Given the description of an element on the screen output the (x, y) to click on. 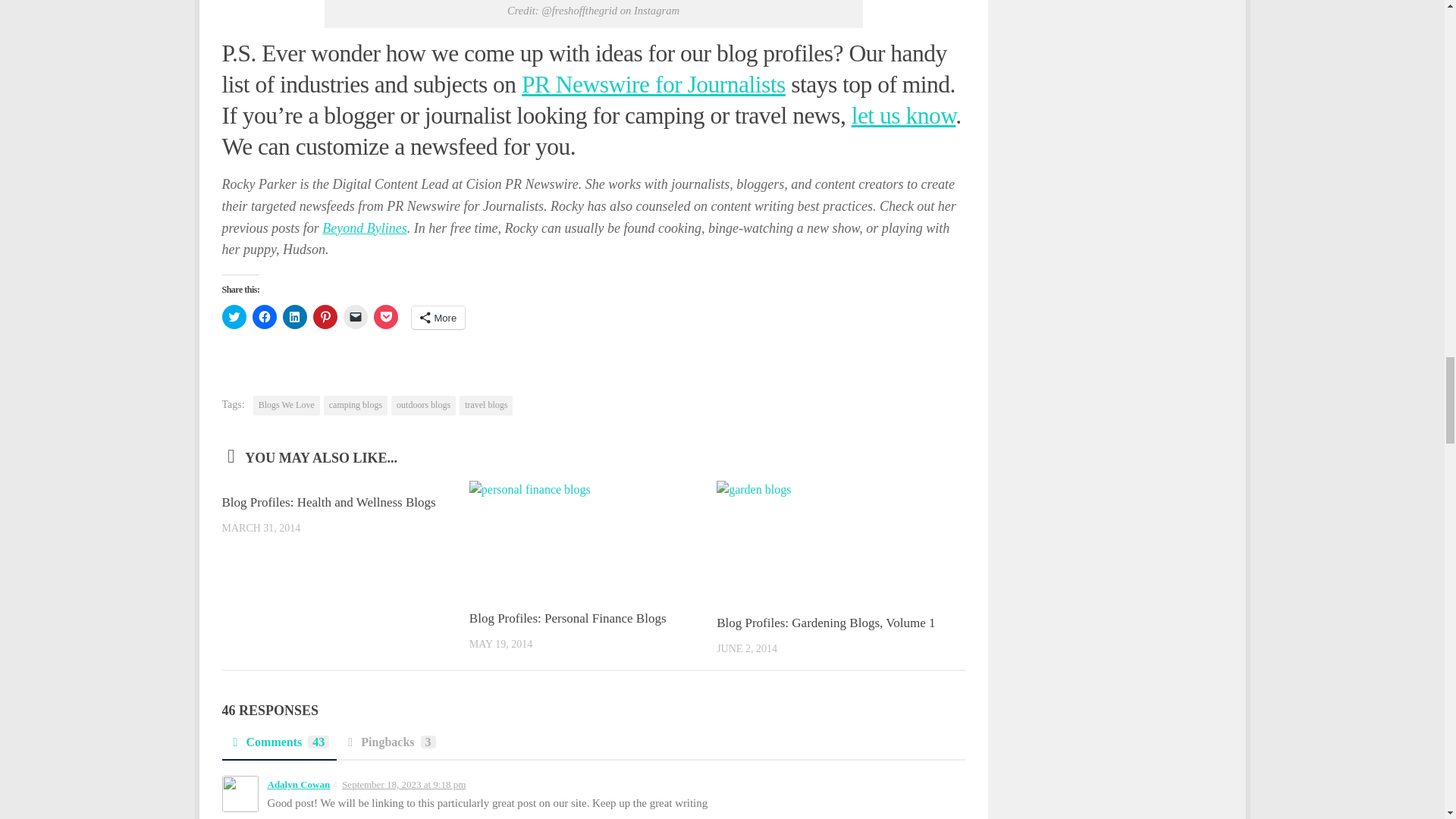
Click to share on Twitter (233, 316)
Click to share on Pocket (384, 316)
Click to share on Pinterest (324, 316)
Click to share on Facebook (263, 316)
Click to share on LinkedIn (293, 316)
Click to email a link to a friend (354, 316)
